Given the description of an element on the screen output the (x, y) to click on. 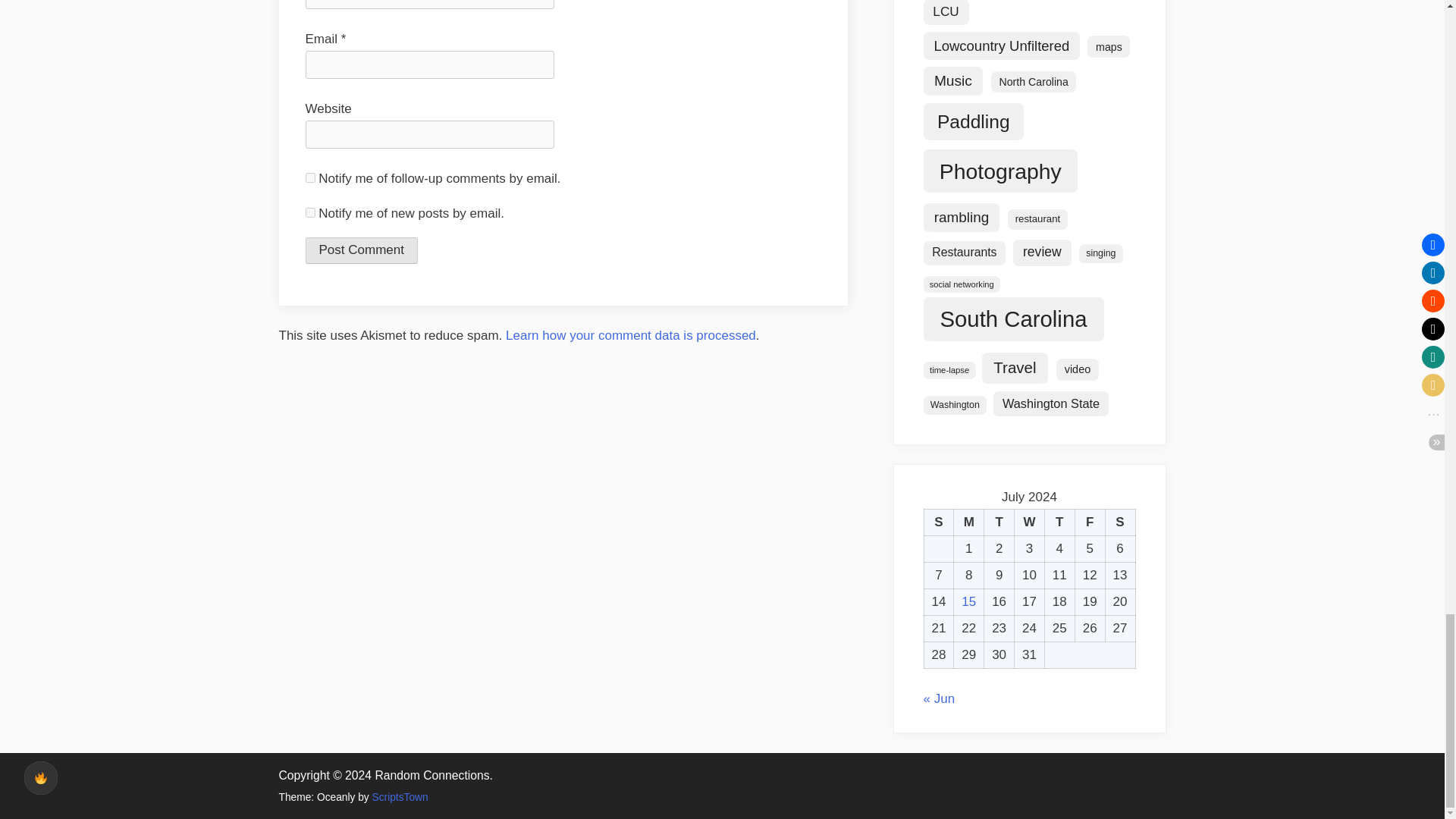
Post Comment (360, 249)
subscribe (309, 177)
Wednesday (1029, 522)
Tuesday (999, 522)
subscribe (309, 212)
Post Comment (360, 249)
Monday (968, 522)
Sunday (938, 522)
Thursday (1058, 522)
Learn how your comment data is processed (630, 335)
